Given the description of an element on the screen output the (x, y) to click on. 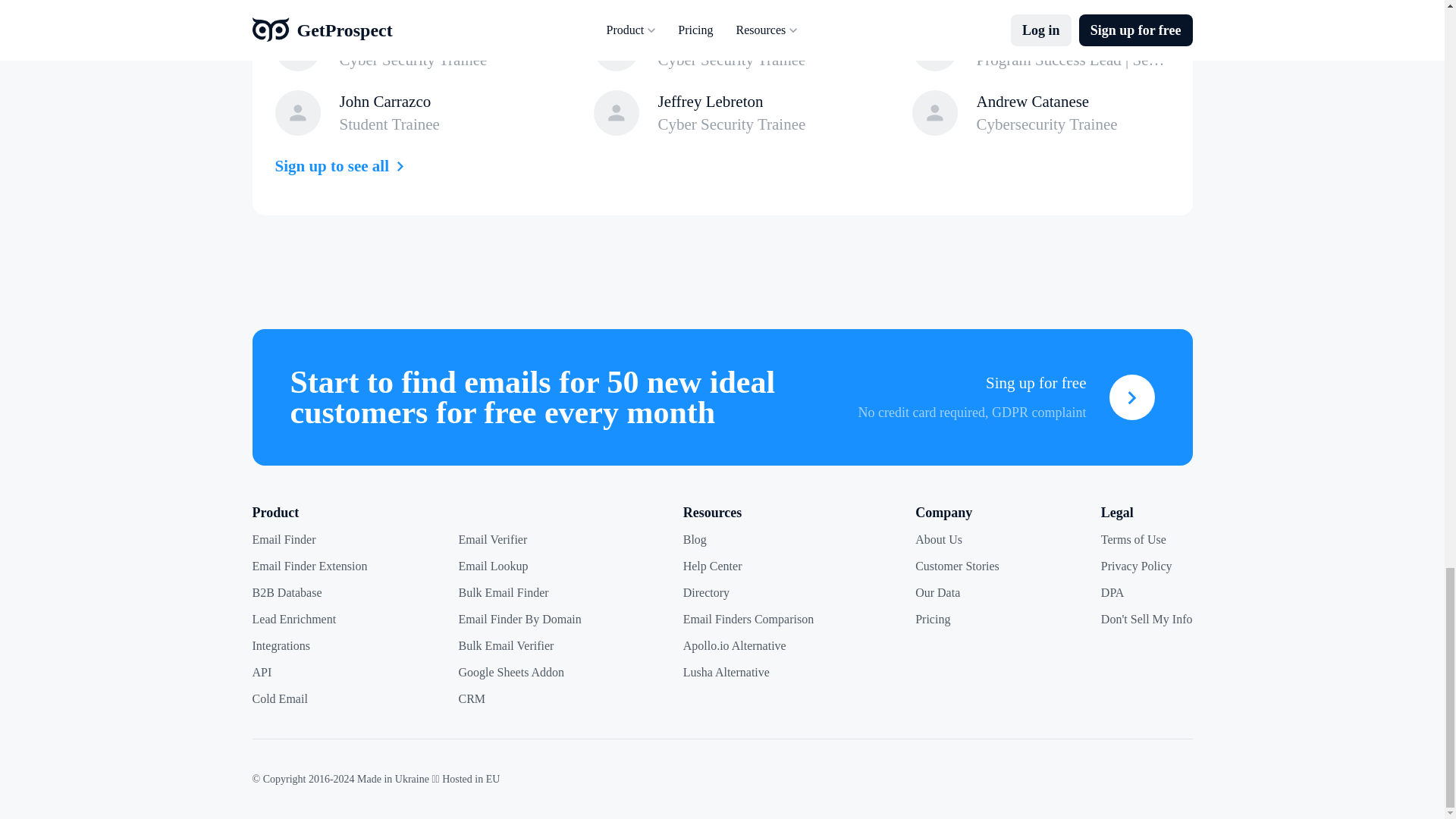
Sign up to see all (343, 165)
Email Finder (283, 539)
